Given the description of an element on the screen output the (x, y) to click on. 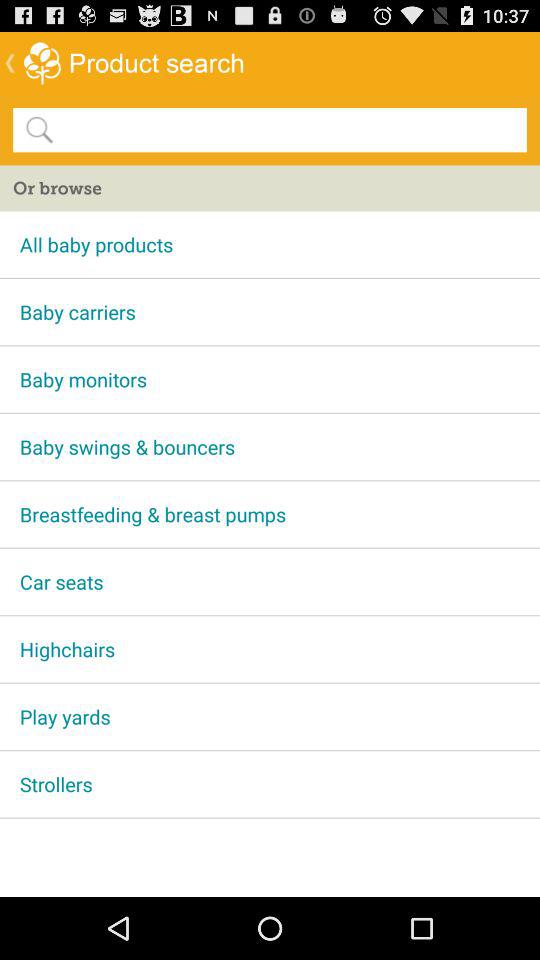
swipe until baby monitors icon (270, 379)
